Given the description of an element on the screen output the (x, y) to click on. 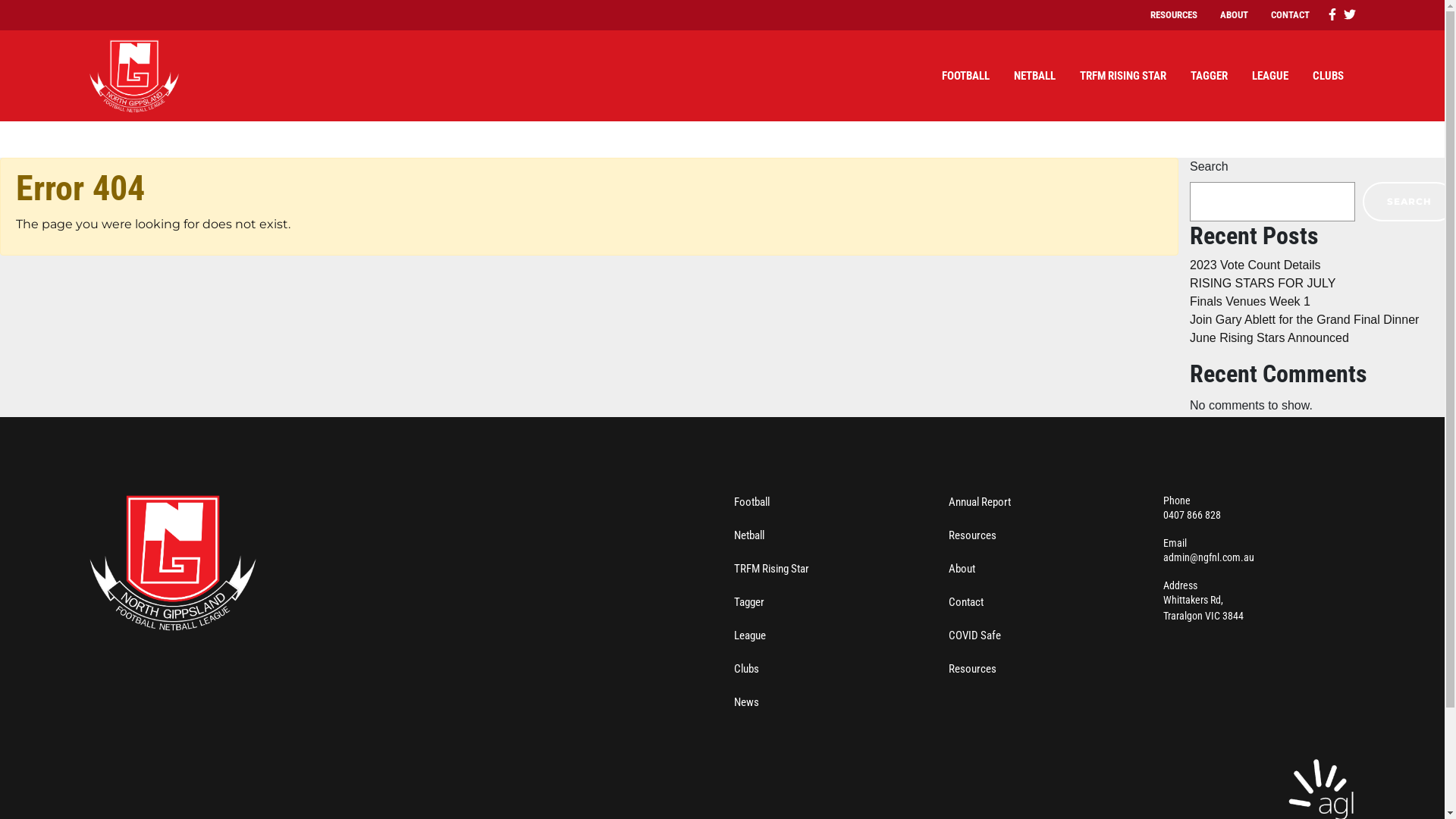
Netball Element type: text (749, 535)
Clubs Element type: text (746, 668)
League Element type: text (749, 635)
RESOURCES Element type: text (1173, 15)
Annual Report Element type: text (979, 501)
0407 866 828 Element type: text (1191, 514)
Finals Venues Week 1 Element type: text (1249, 300)
LEAGUE Element type: text (1269, 75)
June Rising Stars Announced Element type: text (1269, 337)
ABOUT Element type: text (1233, 15)
TAGGER Element type: text (1208, 75)
TRFM RISING STAR Element type: text (1122, 75)
CLUBS Element type: text (1327, 75)
Football Element type: text (751, 501)
Resources Element type: text (972, 535)
About Element type: text (961, 568)
TRFM Rising Star Element type: text (771, 568)
admin@ngfnl.com.au Element type: text (1208, 557)
Contact Element type: text (965, 601)
News Element type: text (746, 702)
CONTACT Element type: text (1289, 15)
Join Gary Ablett for the Grand Final Dinner Element type: text (1303, 319)
FOOTBALL Element type: text (965, 75)
NETBALL Element type: text (1033, 75)
RISING STARS FOR JULY Element type: text (1262, 282)
2023 Vote Count Details Element type: text (1255, 264)
Tagger Element type: text (749, 601)
COVID Safe Element type: text (974, 635)
Resources Element type: text (972, 668)
